Given the description of an element on the screen output the (x, y) to click on. 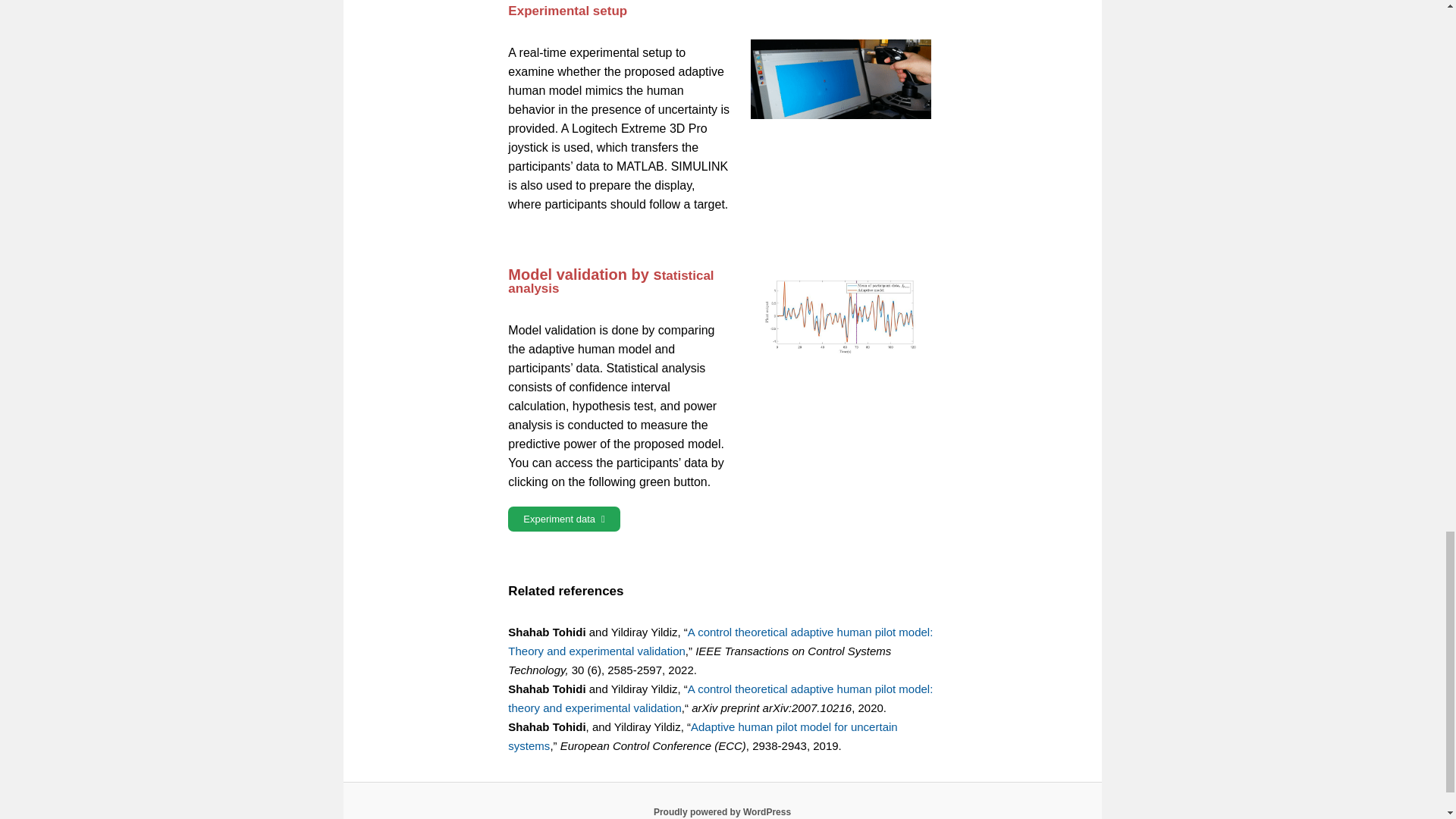
Proudly powered by WordPress (721, 811)
Semantic Personal Publishing Platform (721, 811)
Adaptive human pilot model for uncertain systems (702, 736)
Experiment data (564, 518)
